Given the description of an element on the screen output the (x, y) to click on. 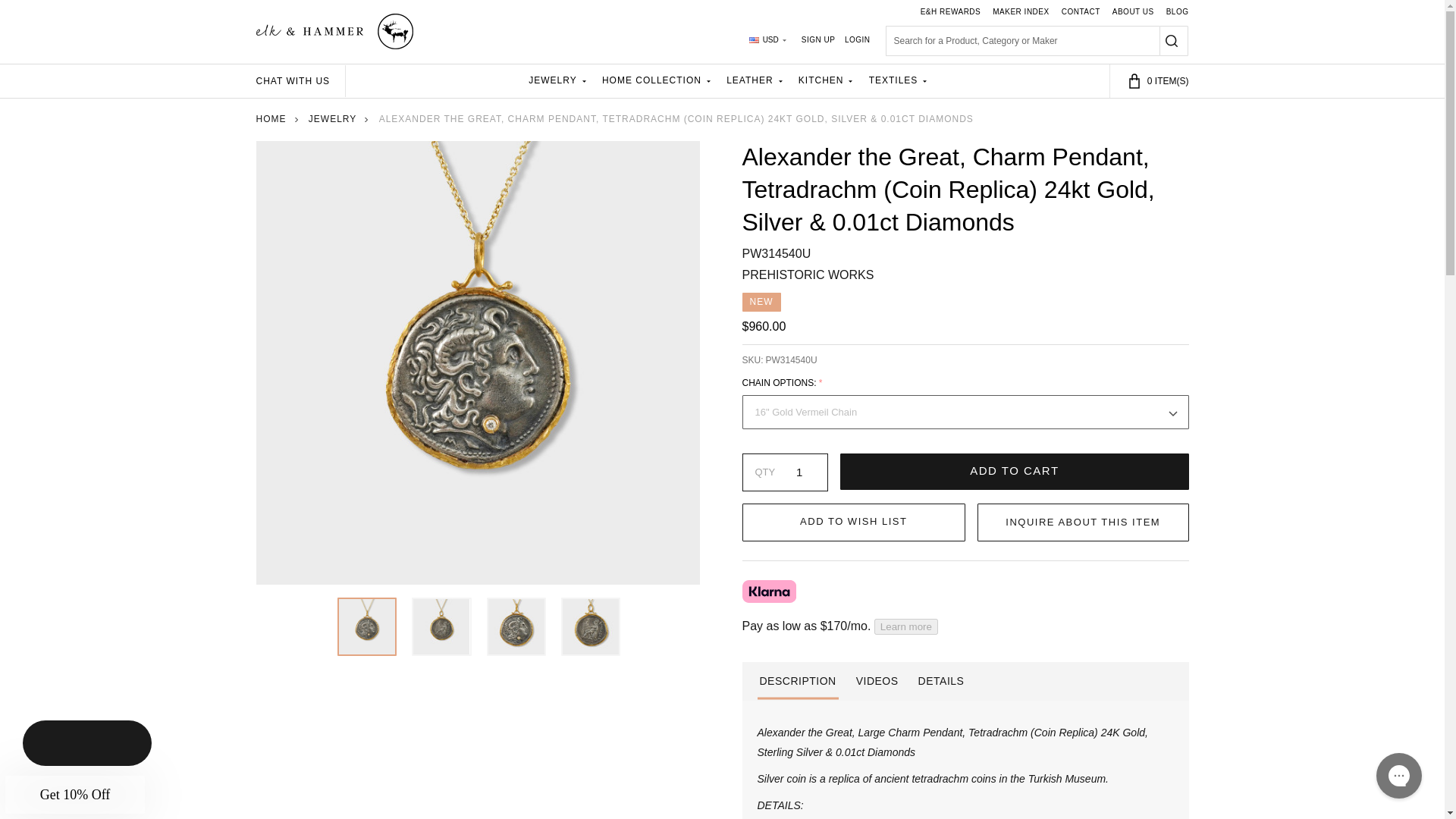
Cart (1149, 80)
SEARCH (1173, 40)
SIGN UP (818, 40)
Login (857, 40)
Sign Up (818, 40)
LOGIN (857, 40)
USD (767, 40)
Chat with Us (301, 81)
MAKER INDEX (1013, 12)
JEWELRY (556, 80)
